Given the description of an element on the screen output the (x, y) to click on. 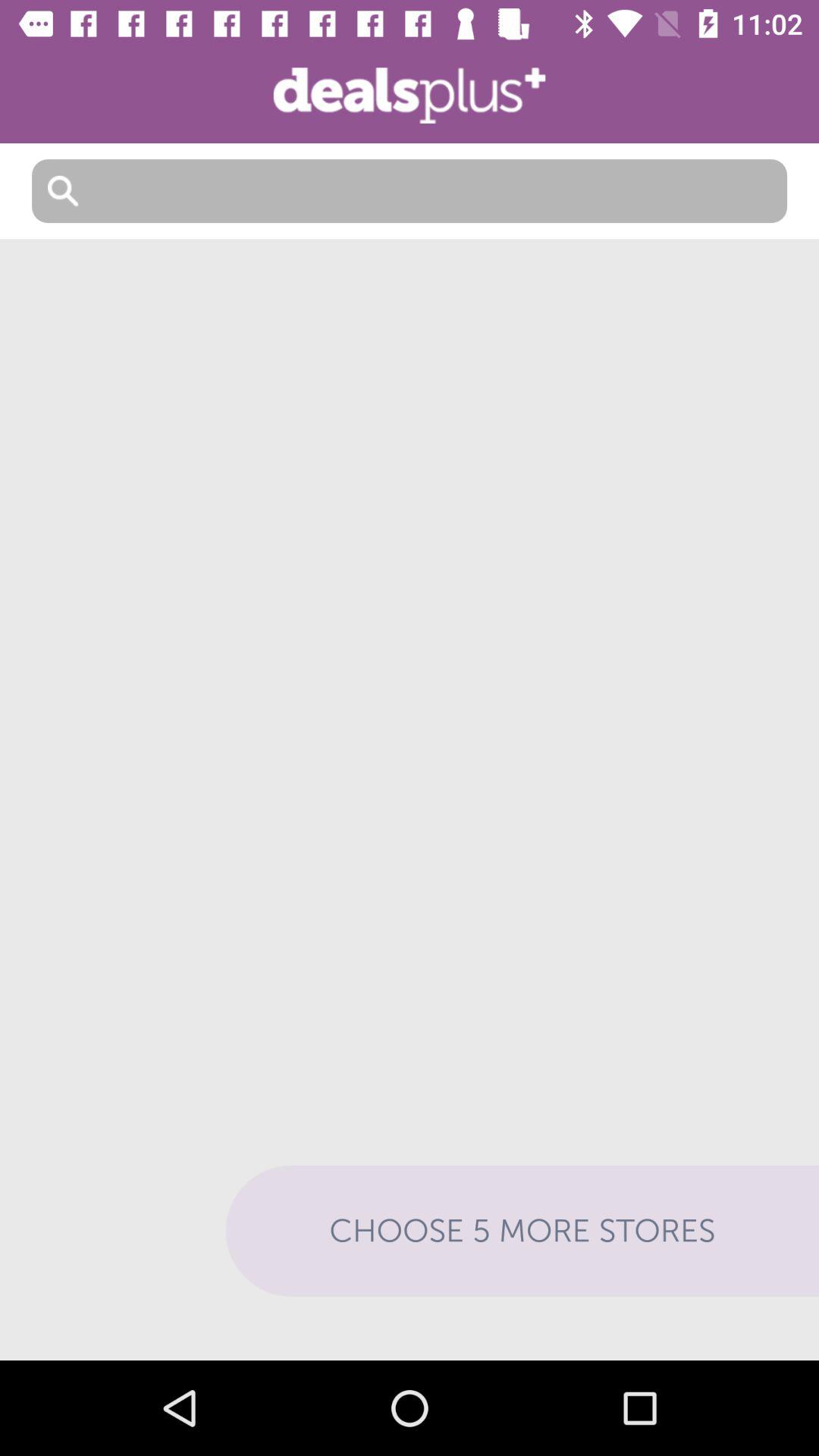
search for stores (409, 190)
